Given the description of an element on the screen output the (x, y) to click on. 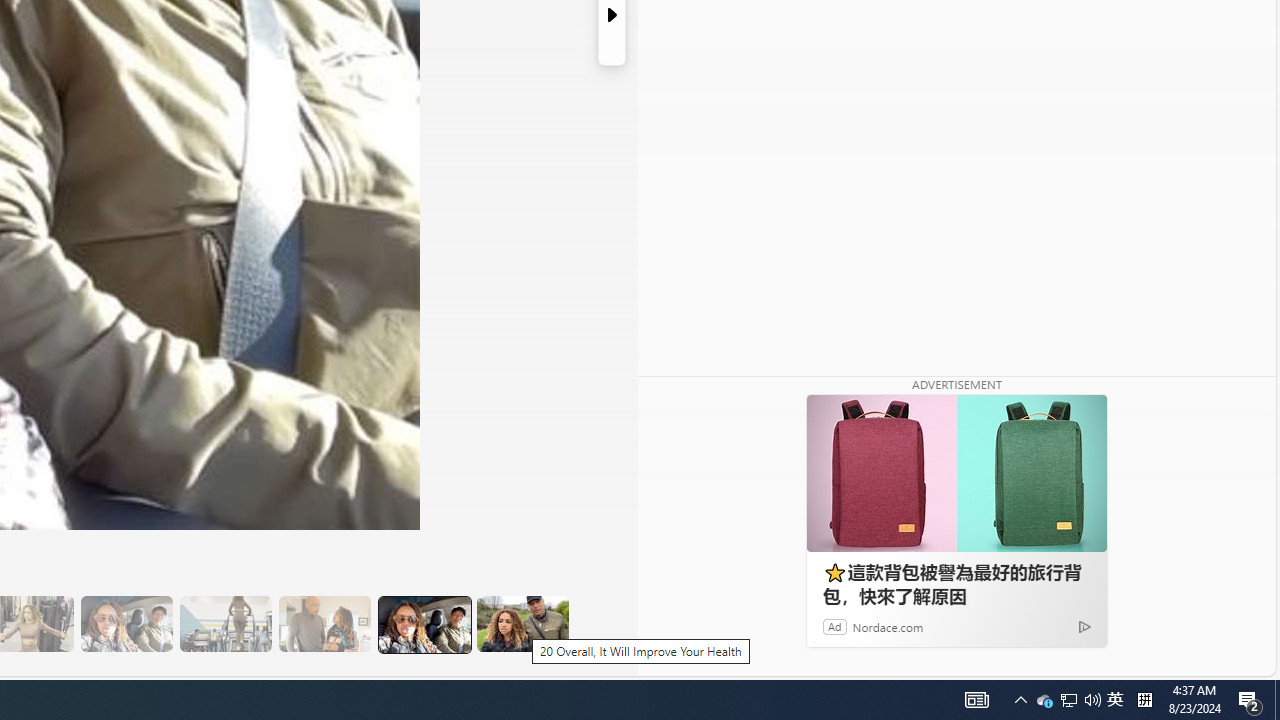
Ad (835, 626)
18 It's More Fun Doing It with Someone Else (324, 624)
18 It's More Fun Doing It with Someone Else (324, 624)
19 It Also Simplifies Thiings (423, 624)
Nordace.com (888, 626)
20 Overall, It Will Improve Your Health (522, 624)
Ad Choice (1084, 626)
Feedback (1199, 659)
20 Overall, It Will Improve Your Health (522, 624)
16 The Couple's Program Helps with Accountability (125, 624)
